Given the description of an element on the screen output the (x, y) to click on. 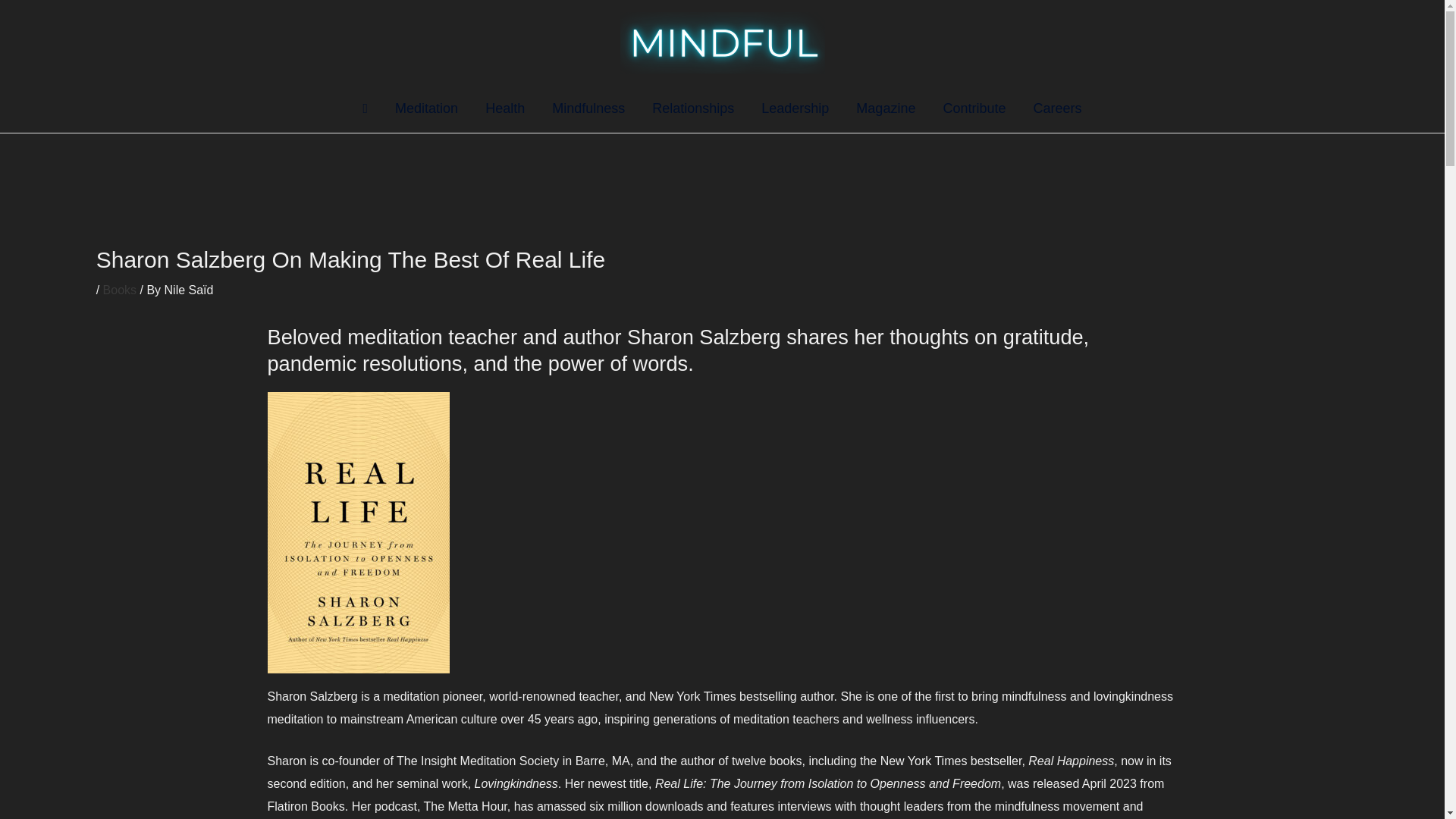
Books (119, 289)
